Given the description of an element on the screen output the (x, y) to click on. 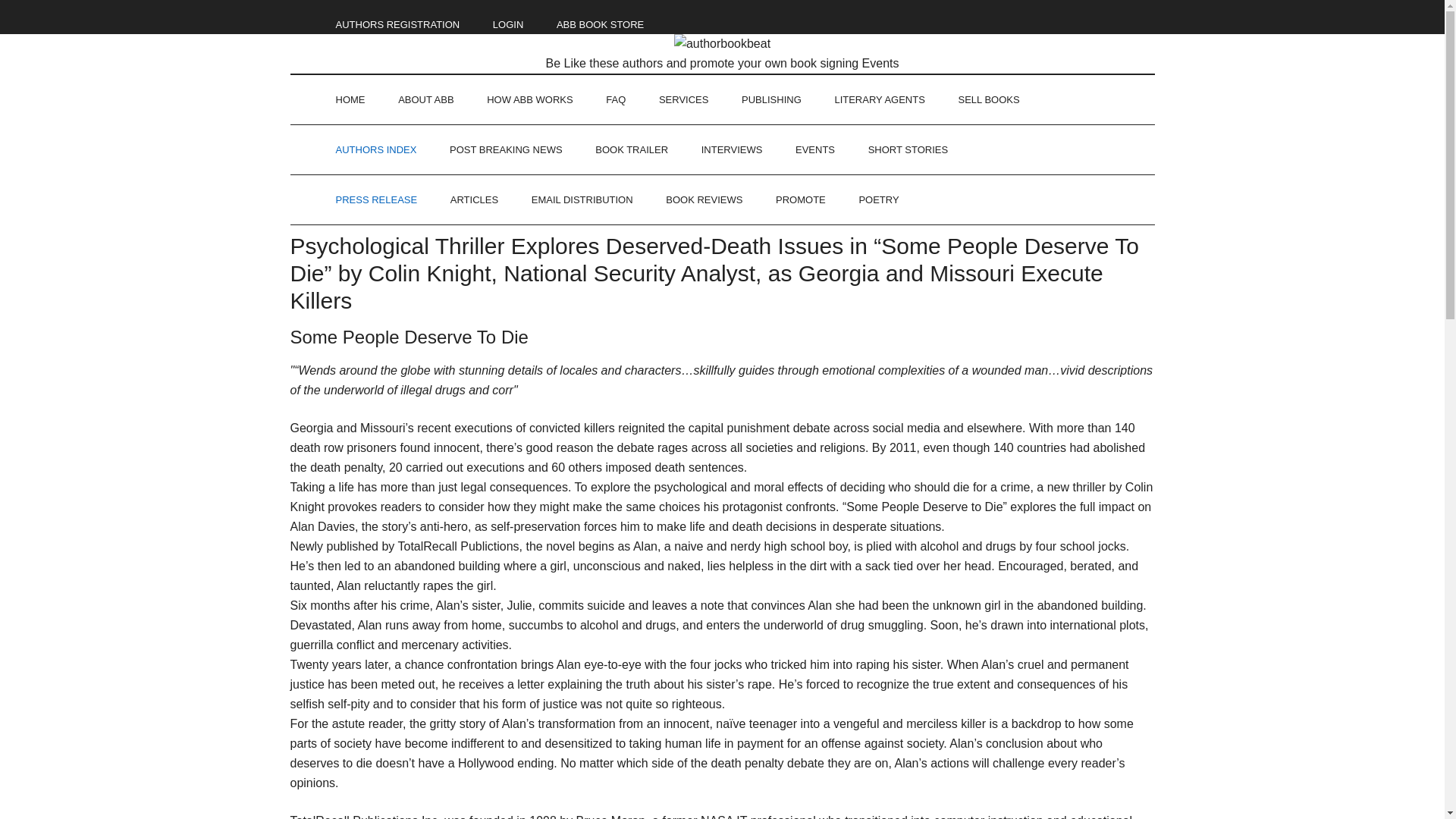
INTERVIEWS (731, 149)
PUBLISHING (771, 99)
POETRY (878, 199)
EMAIL DISTRIBUTION (581, 199)
FAQ (615, 99)
SHORT STORIES (907, 149)
PRESS RELEASE (376, 199)
POST BREAKING NEWS (505, 149)
HOME (350, 99)
SERVICES (683, 99)
AUTHORS INDEX (375, 149)
LITERARY AGENTS (878, 99)
Publishing (771, 99)
BOOK REVIEWS (703, 199)
Contact Literary Agents (878, 99)
